Given the description of an element on the screen output the (x, y) to click on. 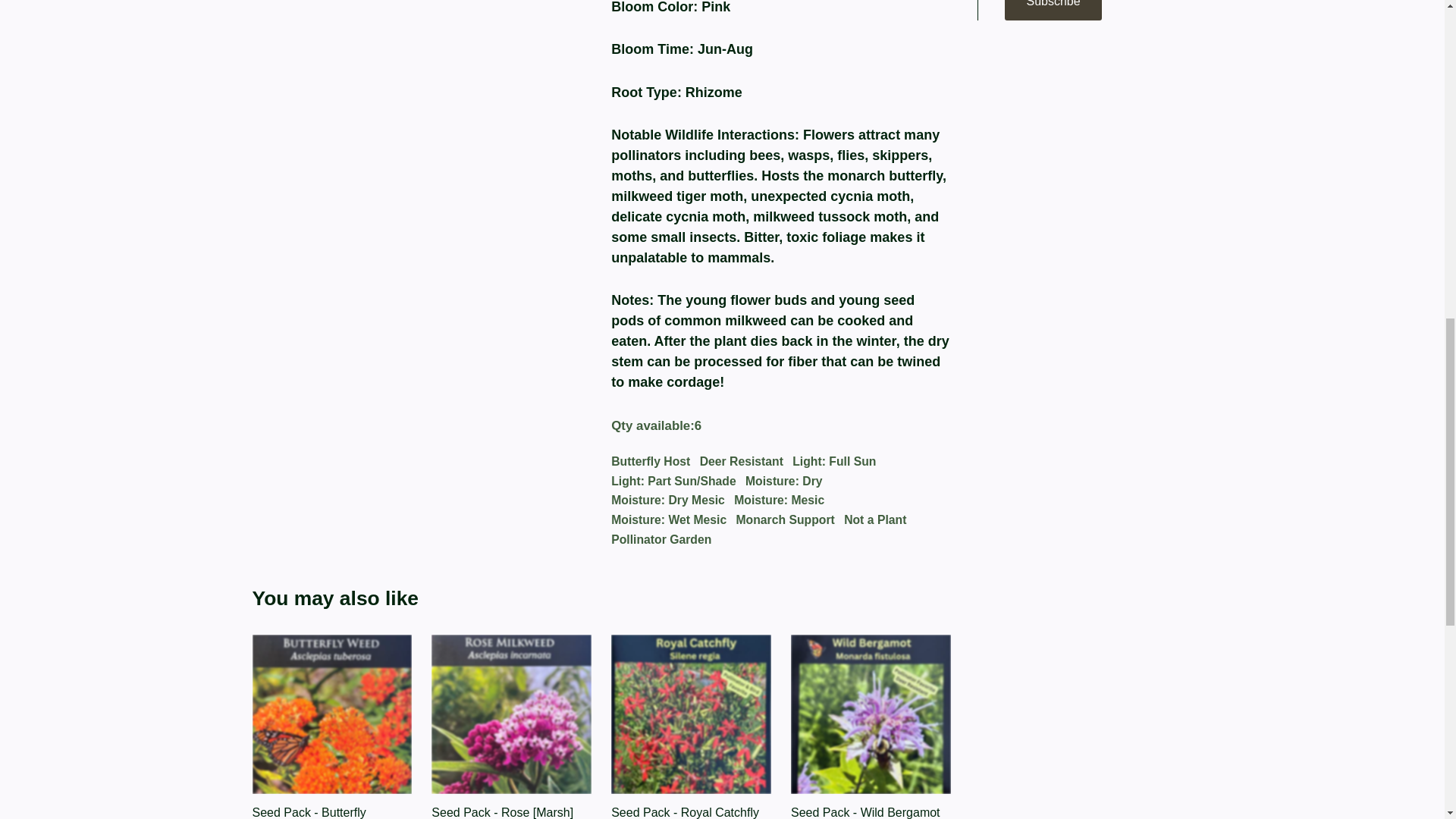
Show products matching tag Deer Resistant (741, 461)
Show products matching tag Moisture: Wet Mesic (668, 519)
Show products matching tag Moisture: Dry (783, 481)
Show products matching tag Butterfly Host (650, 461)
Show products matching tag Moisture: Dry Mesic (668, 500)
Show products matching tag Light: Full Sun (834, 461)
Show products matching tag Moisture: Mesic (778, 500)
